Given the description of an element on the screen output the (x, y) to click on. 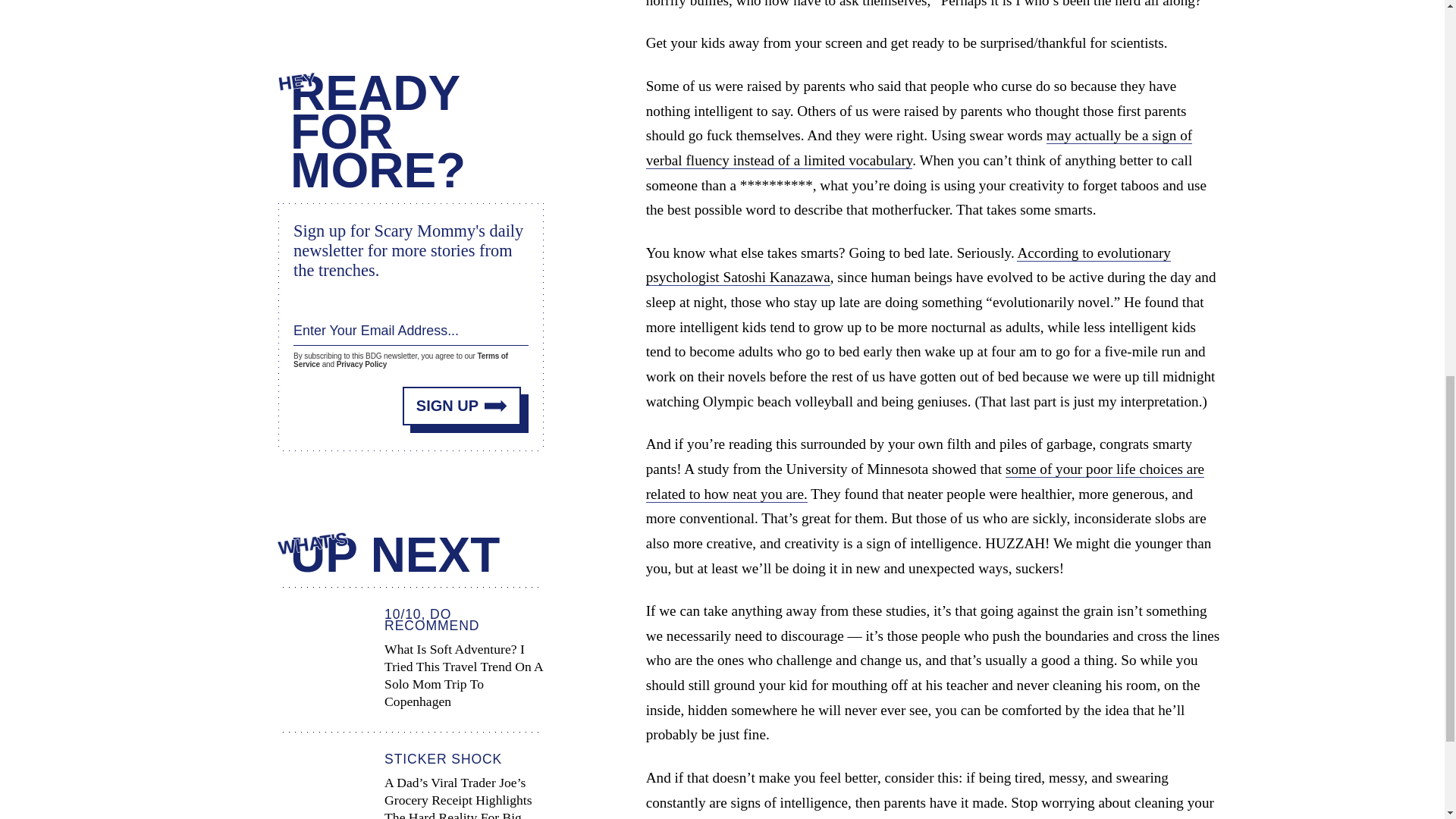
Privacy Policy (361, 364)
According to evolutionary psychologist Satoshi Kanazawa (908, 265)
SIGN UP (462, 404)
Terms of Service (401, 359)
